Given the description of an element on the screen output the (x, y) to click on. 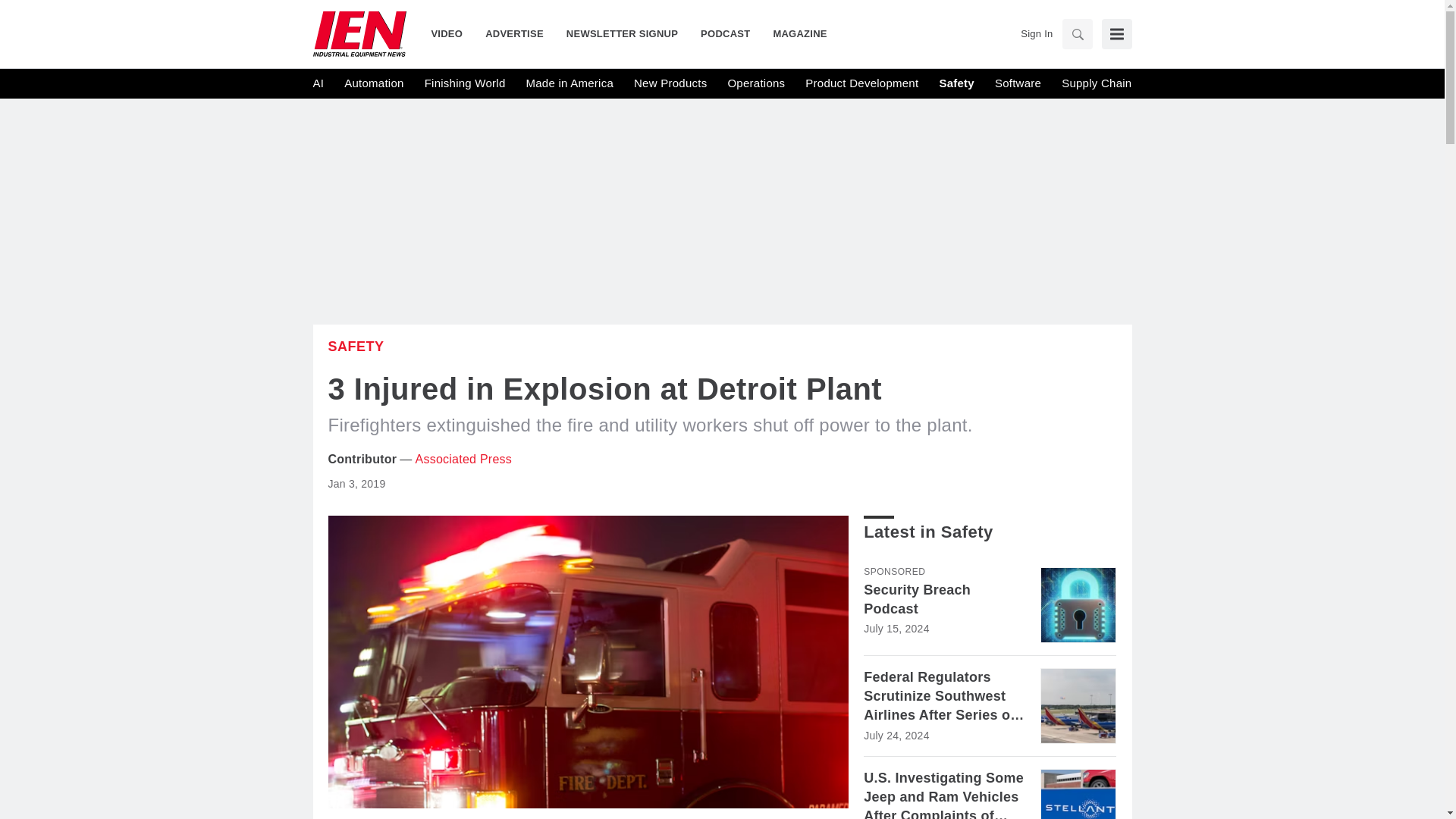
NEWSLETTER SIGNUP (621, 33)
Supply Chain (1096, 83)
VIDEO (452, 33)
Automation (373, 83)
New Products (669, 83)
Operations (755, 83)
PODCAST (724, 33)
ADVERTISE (514, 33)
Safety (956, 83)
Sign In (1036, 33)
Finishing World (465, 83)
Safety (355, 346)
Sponsored (893, 571)
Software (1017, 83)
MAGAZINE (794, 33)
